Given the description of an element on the screen output the (x, y) to click on. 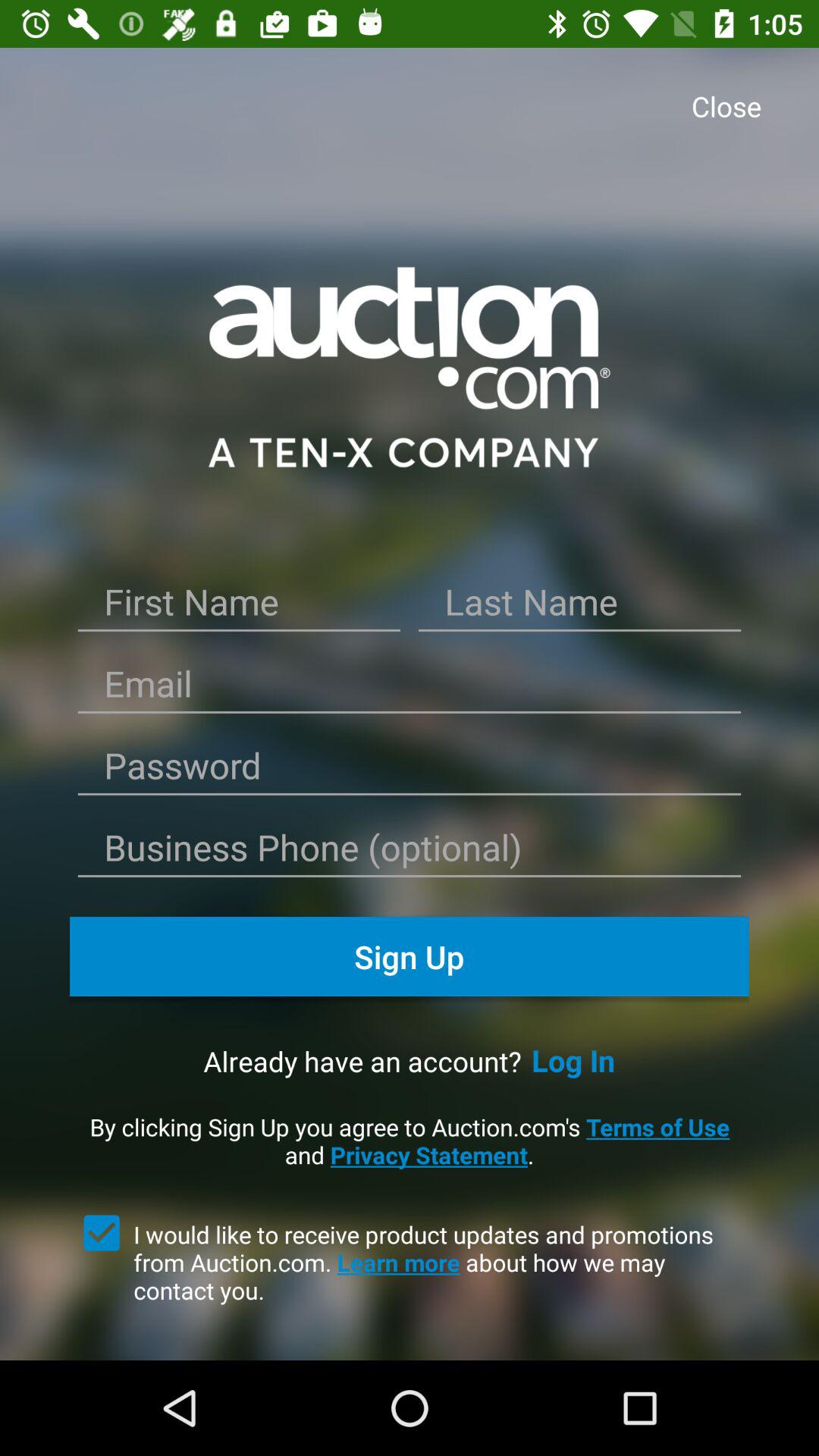
choose icon next to the i would like icon (101, 1232)
